Given the description of an element on the screen output the (x, y) to click on. 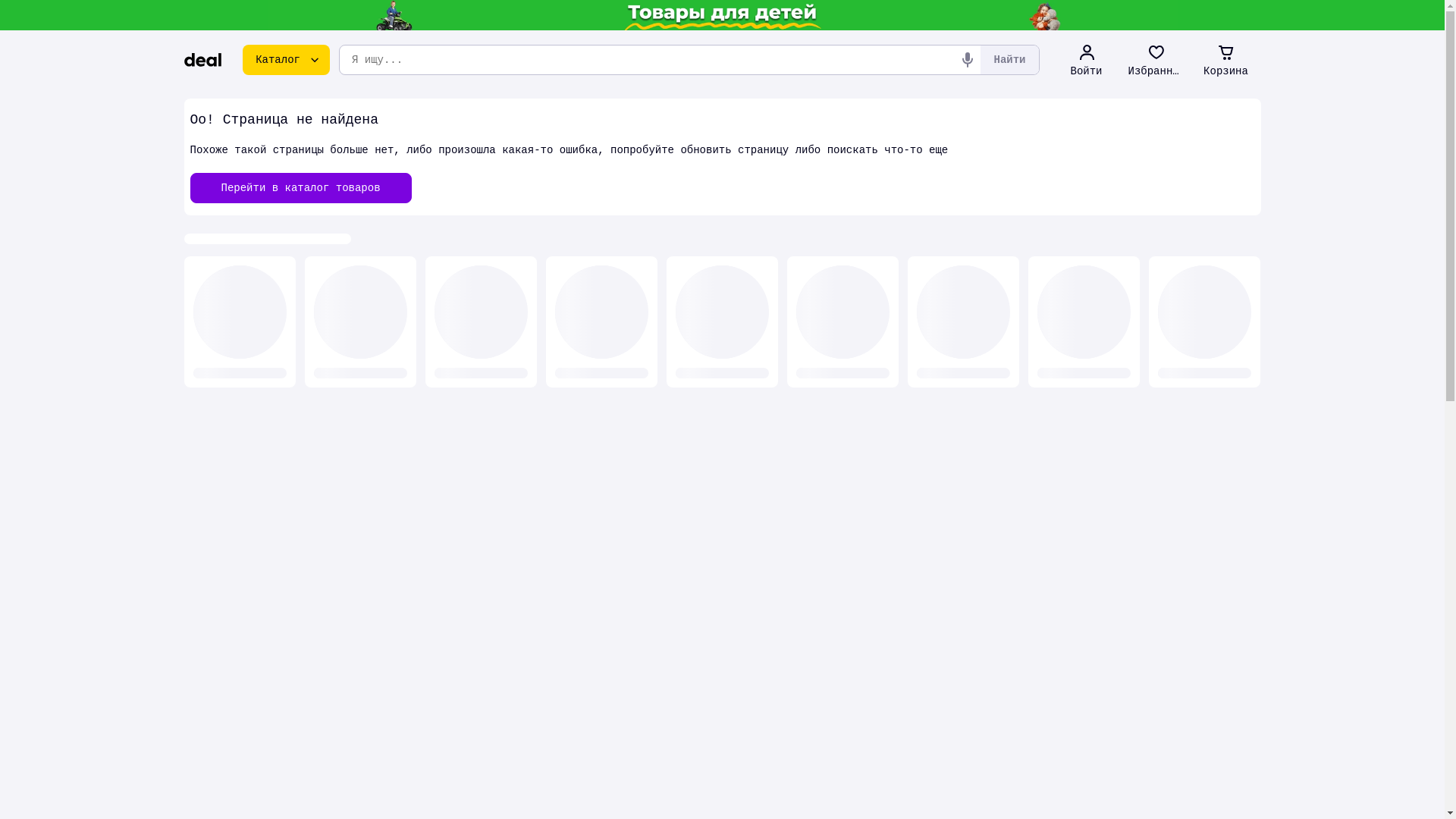
deal.by Element type: hover (202, 59)
